Given the description of an element on the screen output the (x, y) to click on. 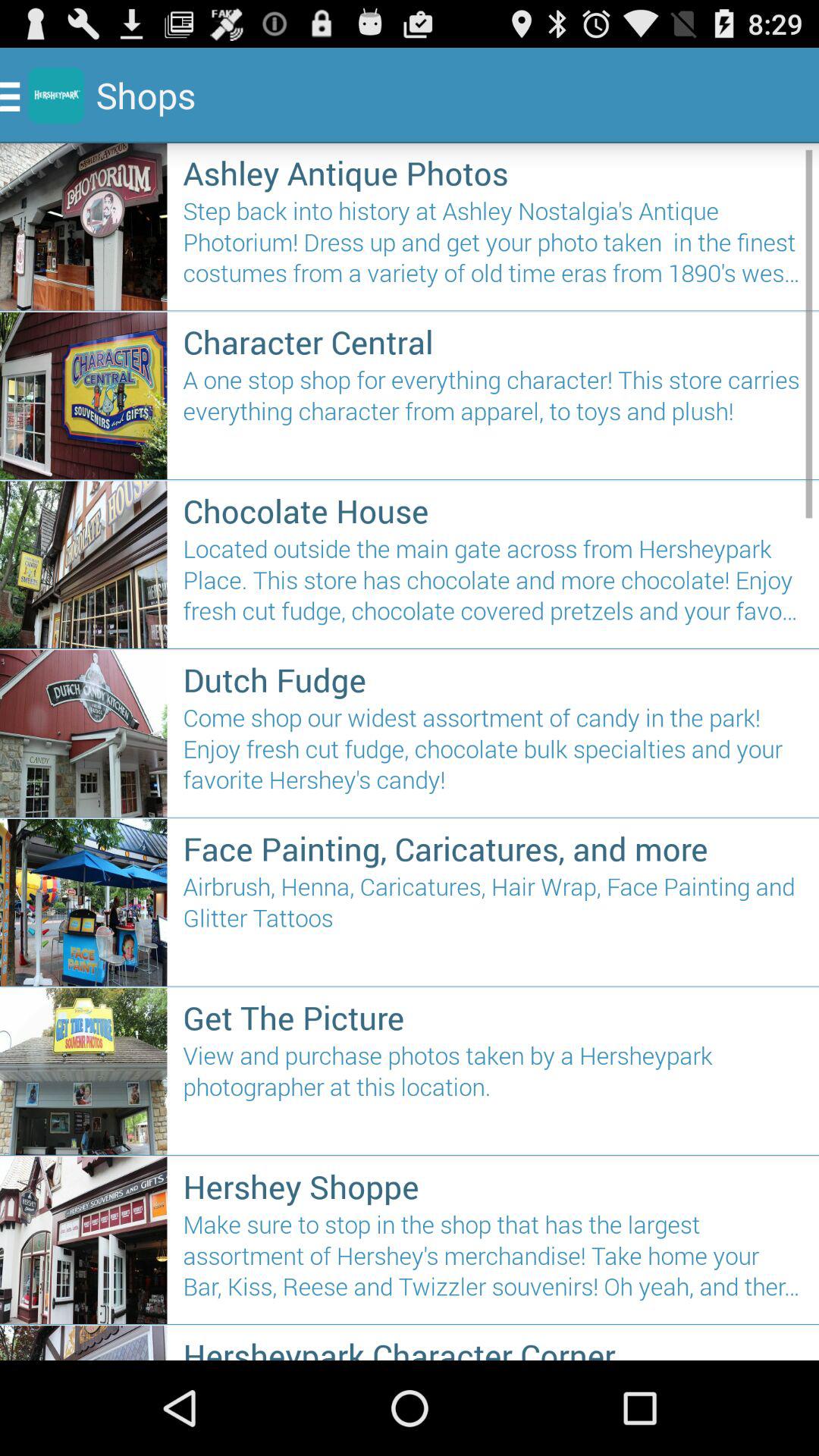
launch the located outside the icon (493, 586)
